Given the description of an element on the screen output the (x, y) to click on. 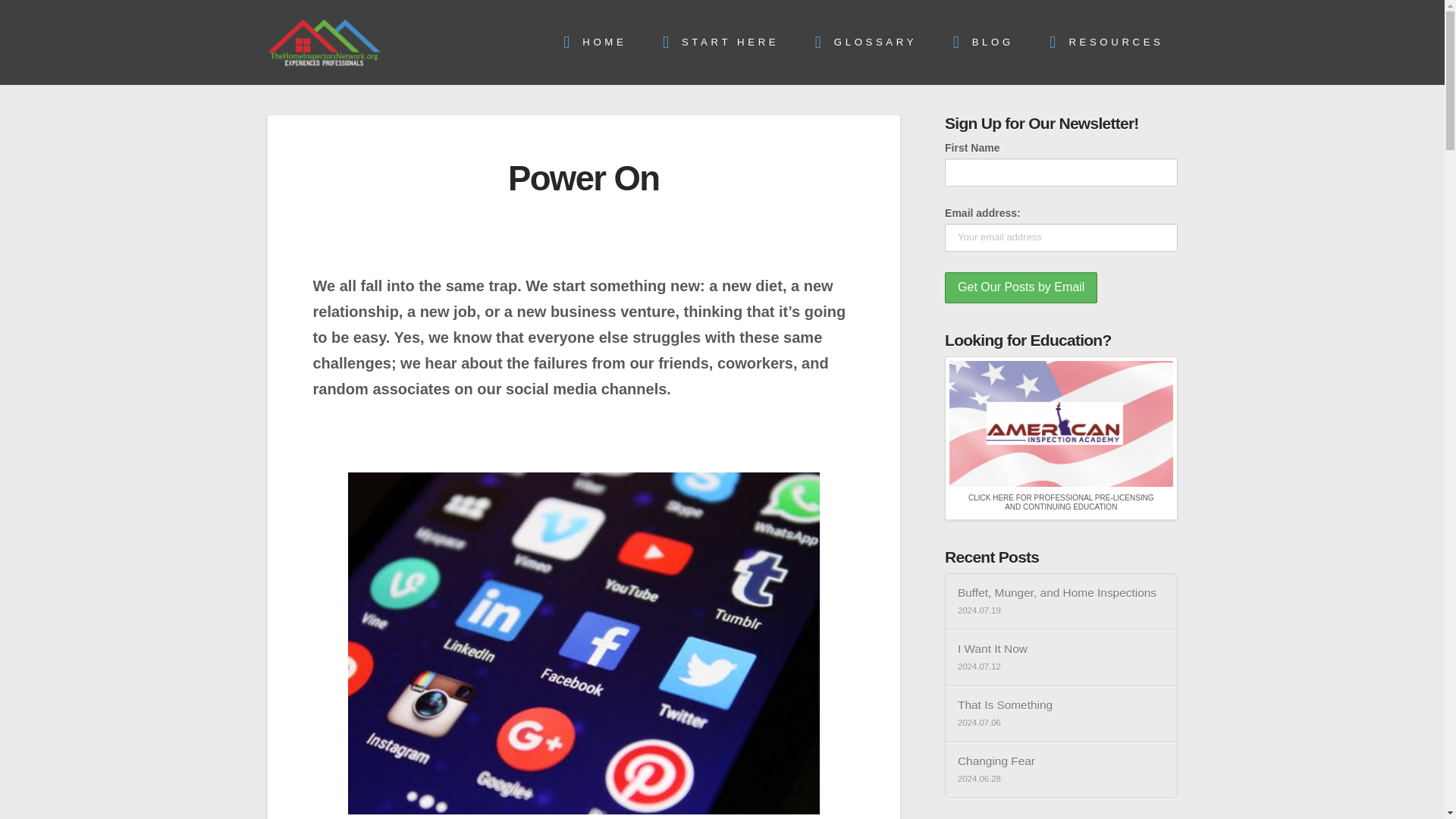
Looking for Education? (1060, 423)
HOME (590, 42)
BLOG (978, 42)
Get Our Posts by Email (1020, 287)
That Is Something (1061, 705)
Changing Fear (1061, 761)
Buffet, Munger, and Home Inspections (1061, 592)
I Want It Now (1061, 649)
START HERE (716, 42)
GLOSSARY (861, 42)
RESOURCES (1102, 42)
Get Our Posts by Email (1020, 287)
